Given the description of an element on the screen output the (x, y) to click on. 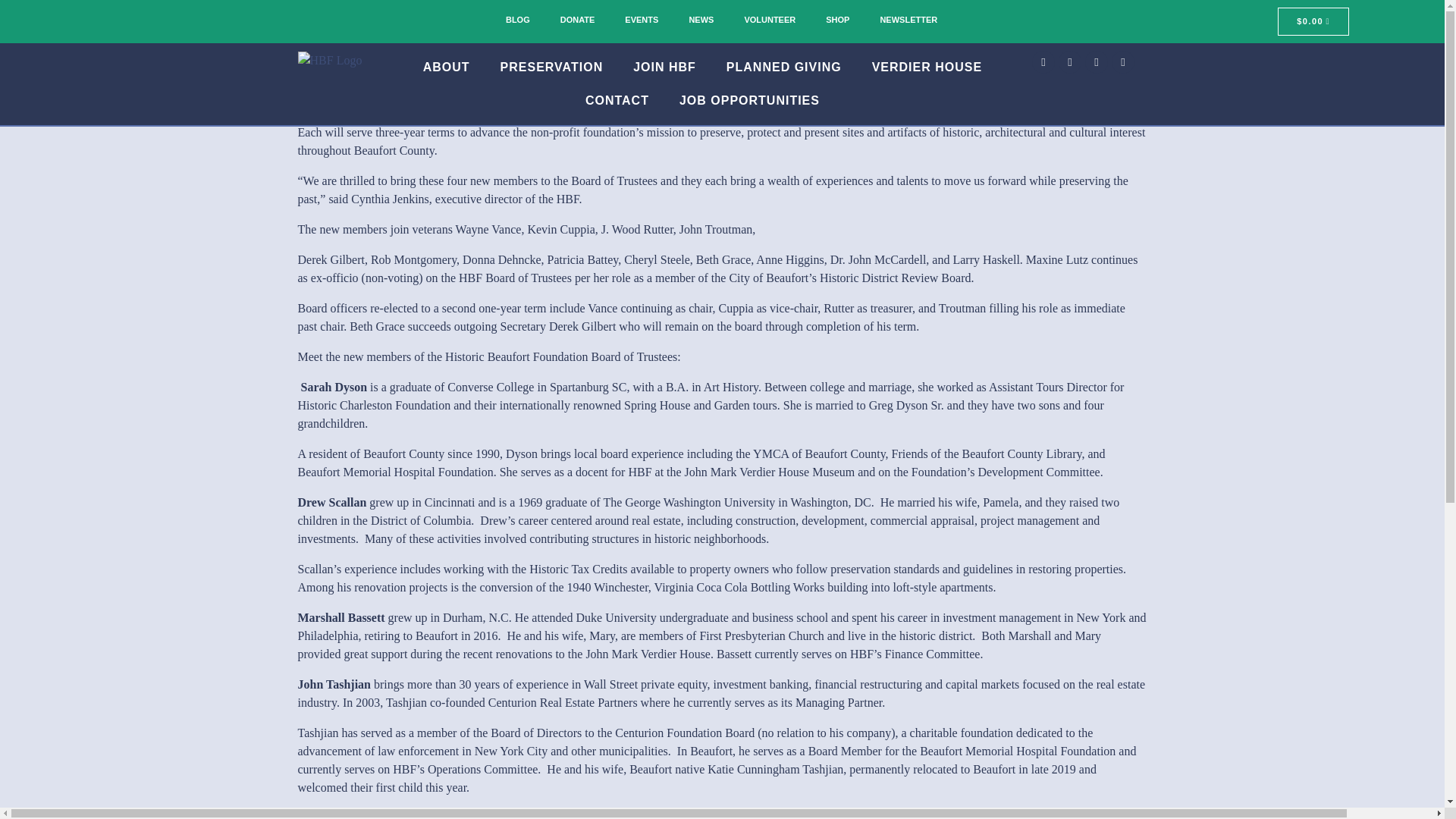
HBF Logo (329, 60)
PRESERVATION (551, 67)
JOB OPPORTUNITIES (748, 100)
VOLUNTEER (769, 19)
PLANNED GIVING (784, 67)
ABOUT (445, 67)
BLOG (517, 19)
CONTACT (616, 100)
EVENTS (641, 19)
NEWS (700, 19)
VERDIER HOUSE (927, 67)
JOIN HBF (664, 67)
NEWSLETTER (908, 19)
DONATE (577, 19)
SHOP (837, 19)
